Given the description of an element on the screen output the (x, y) to click on. 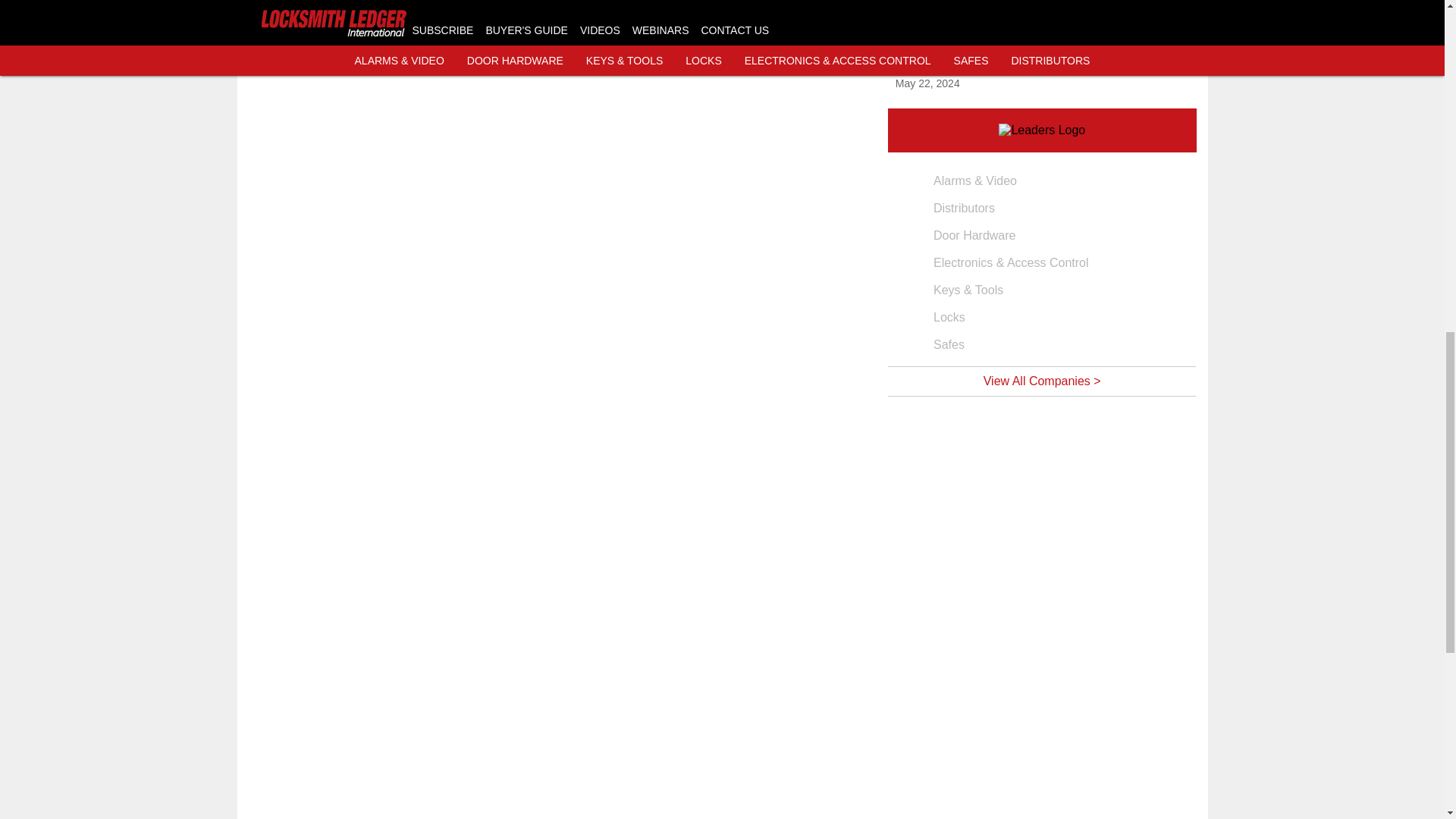
Distributors (1041, 208)
Security Canada West Canceled (986, 52)
Events (986, 29)
